Given the description of an element on the screen output the (x, y) to click on. 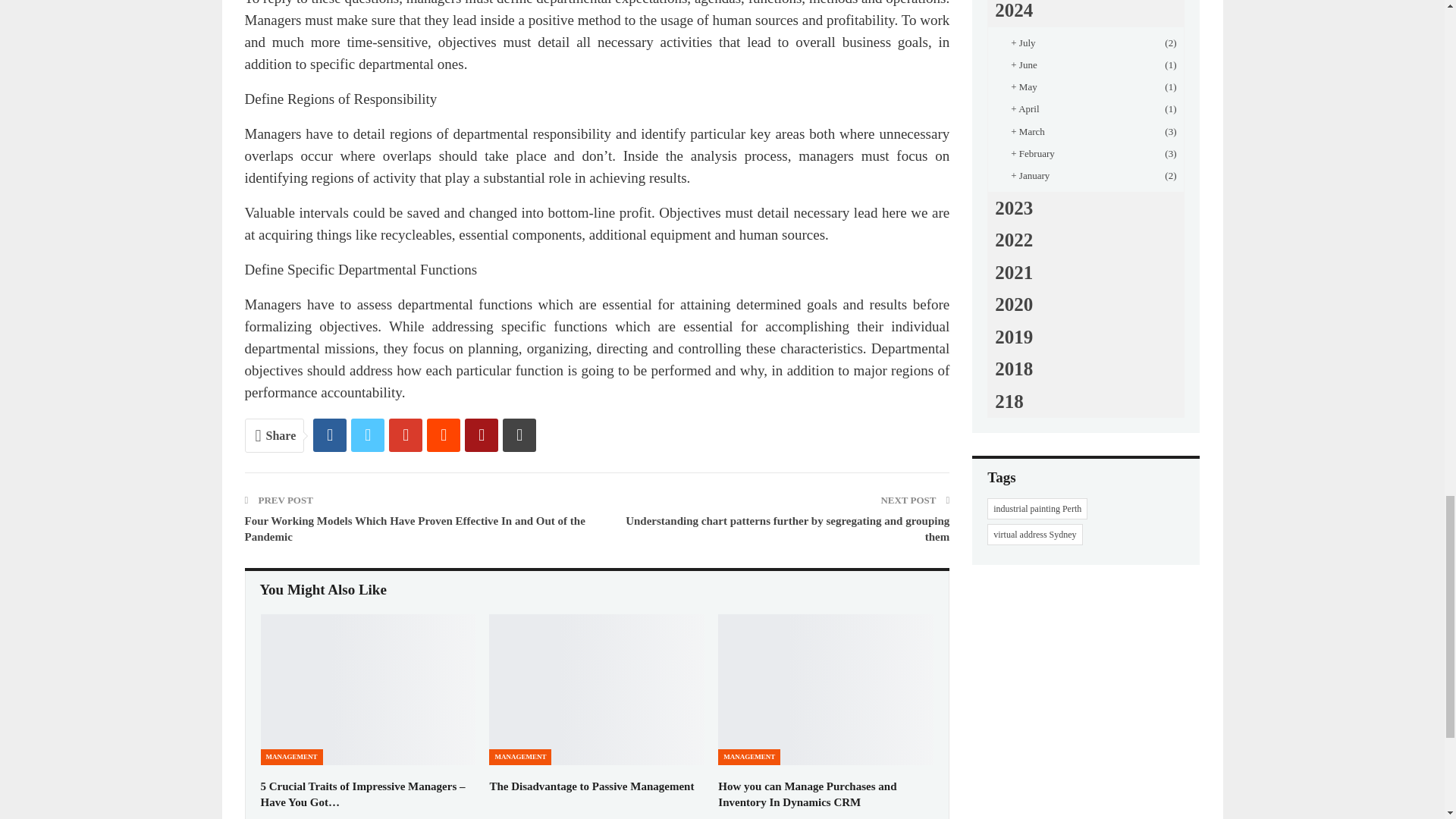
The Disadvantage to Passive Management (596, 689)
MANAGEMENT (520, 756)
How you can Manage Purchases and Inventory In Dynamics CRM (806, 794)
How you can Manage Purchases and Inventory In Dynamics CRM (825, 689)
You Might Also Like (322, 590)
The Disadvantage to Passive Management (591, 786)
MANAGEMENT (291, 756)
